Given the description of an element on the screen output the (x, y) to click on. 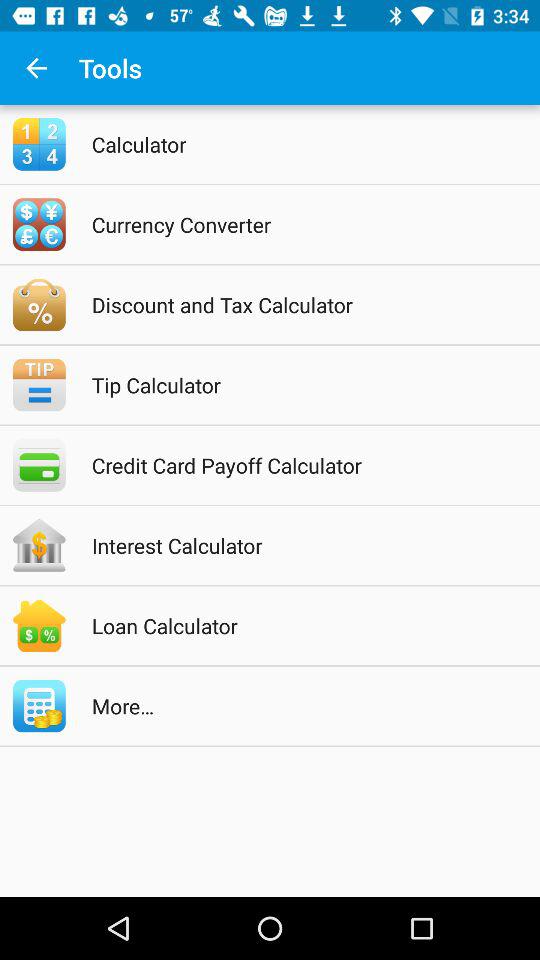
select the app to the left of tools item (36, 68)
